Given the description of an element on the screen output the (x, y) to click on. 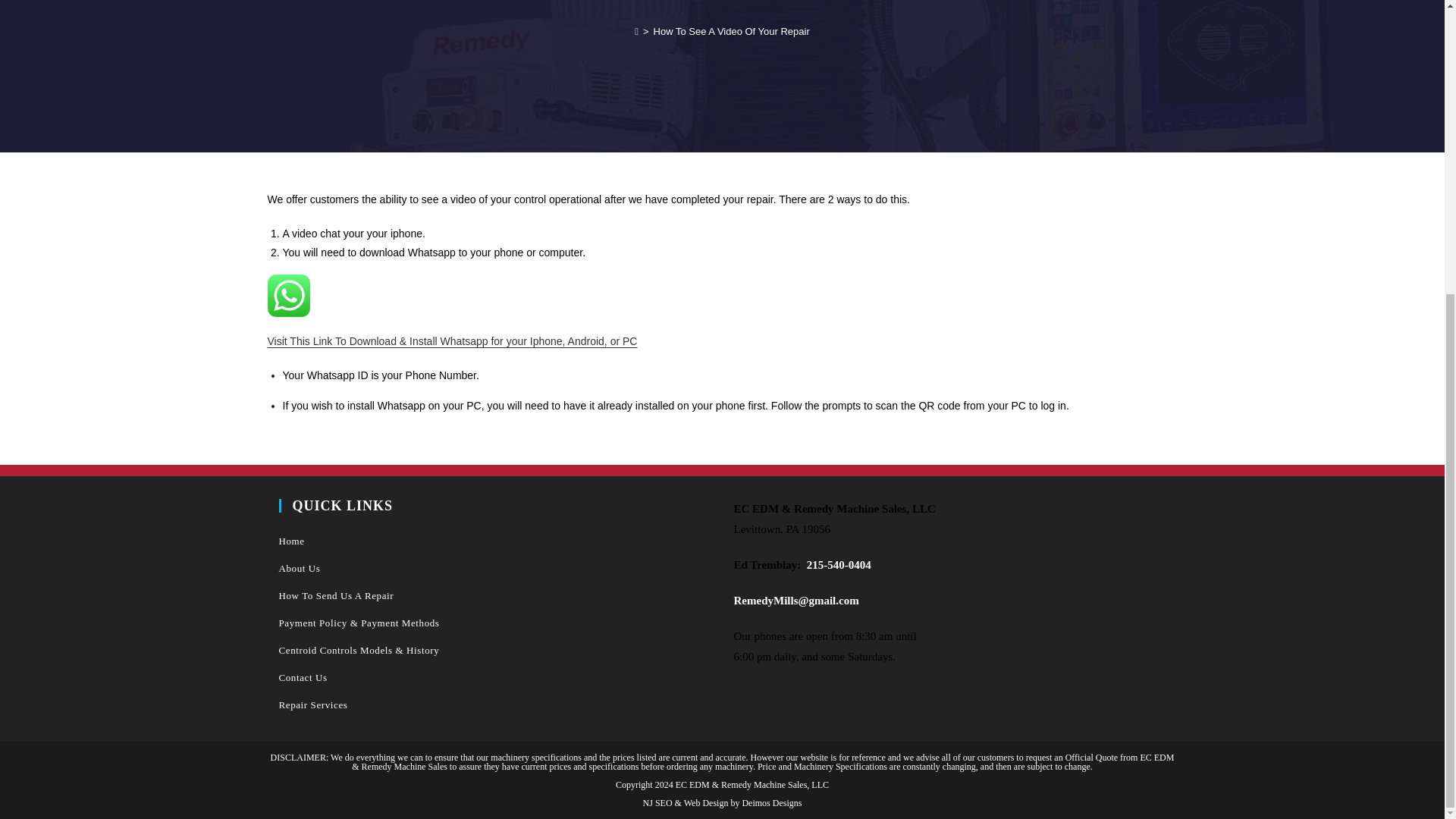
About Us (495, 568)
Repair Services (495, 705)
How To See A Video Of Your Repair (731, 30)
Contact Us (495, 677)
Home (495, 541)
215-540-0404 (838, 564)
How To Send Us A Repair (495, 595)
